Given the description of an element on the screen output the (x, y) to click on. 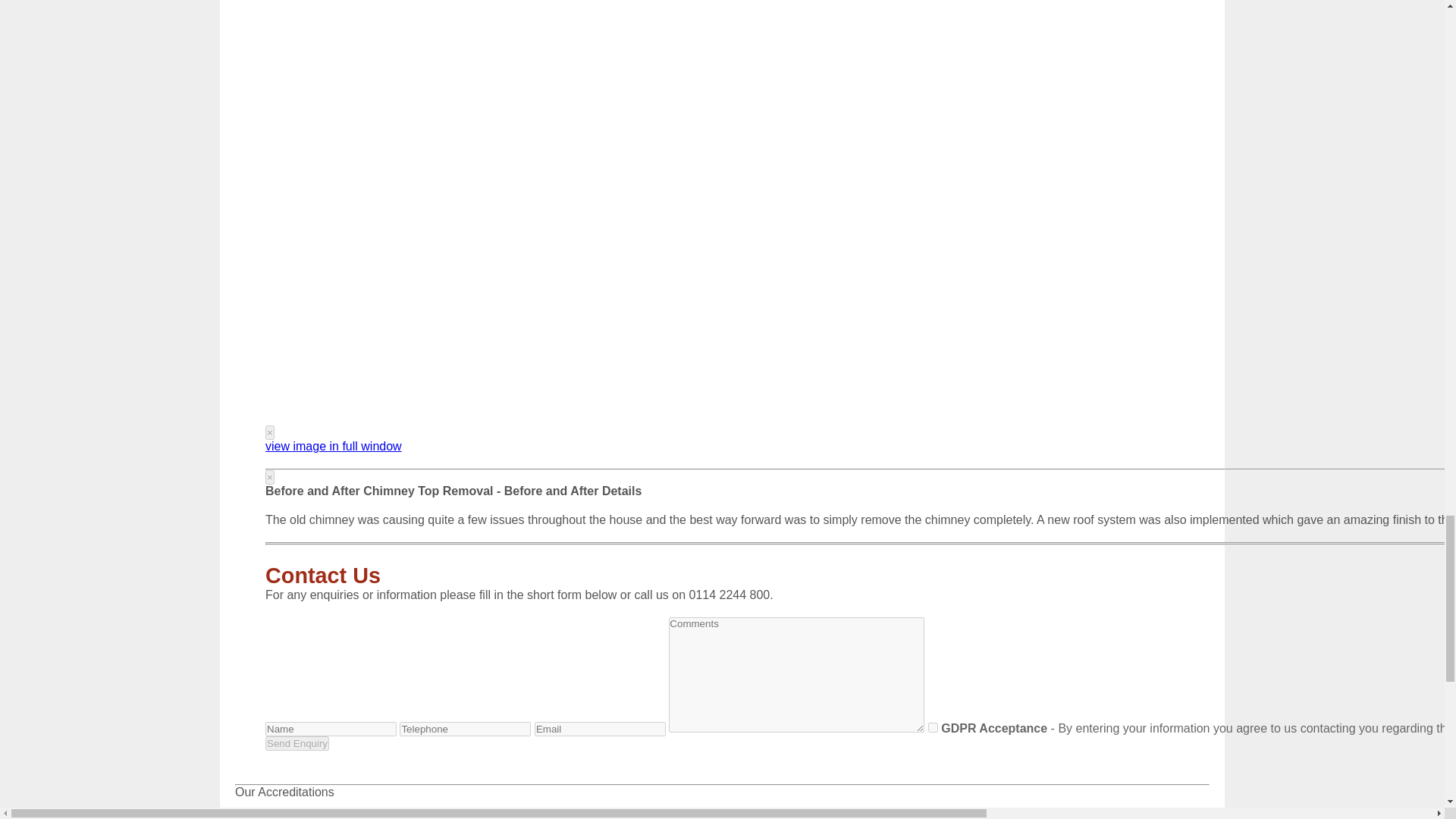
view image in full window (332, 445)
Send Enquiry (296, 743)
yes (932, 727)
Send Enquiry (296, 743)
